Given the description of an element on the screen output the (x, y) to click on. 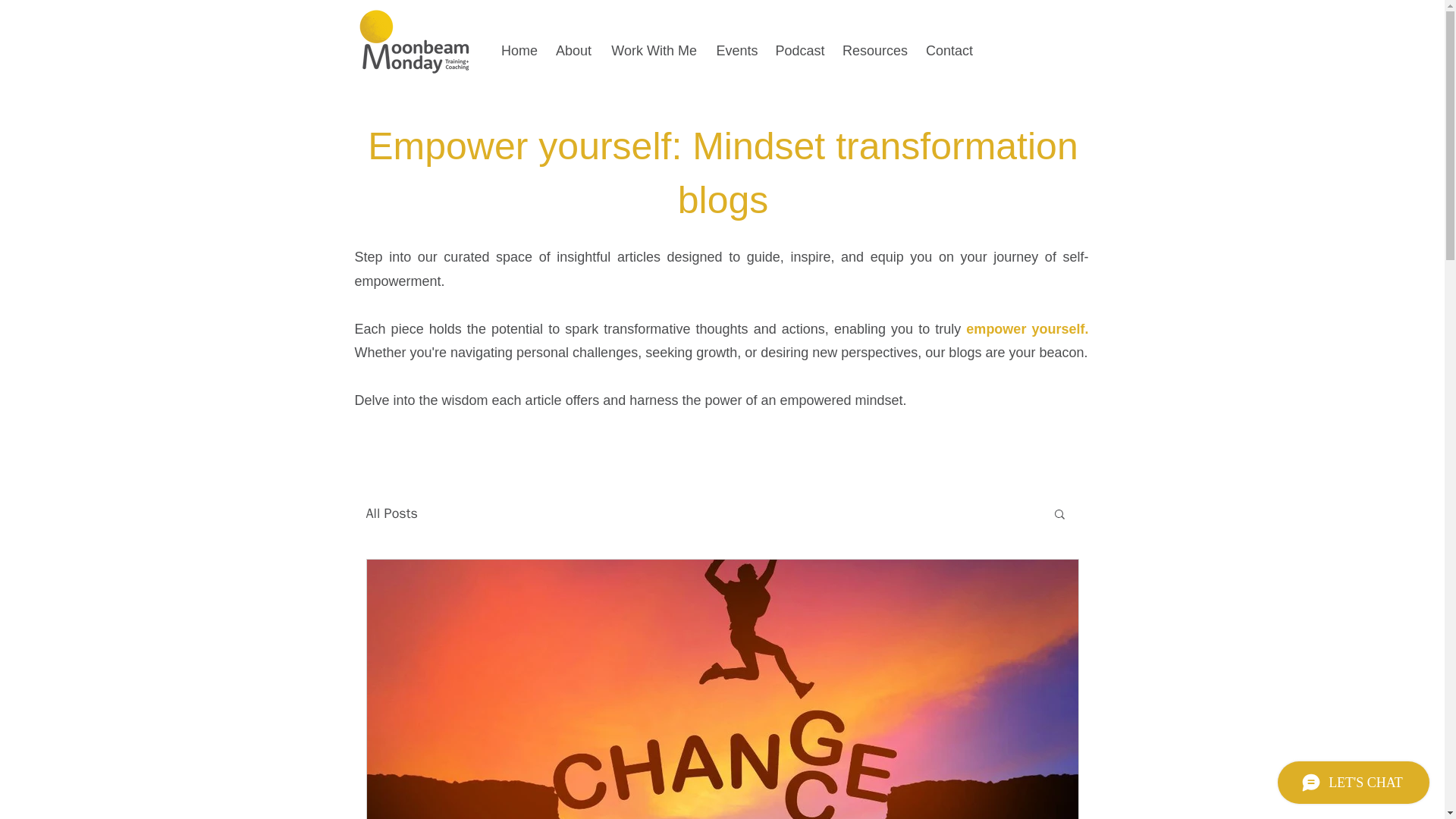
Work With Me (653, 50)
Resources (874, 50)
Podcast (799, 50)
Events (737, 50)
Contact (949, 50)
All Posts (390, 512)
